Given the description of an element on the screen output the (x, y) to click on. 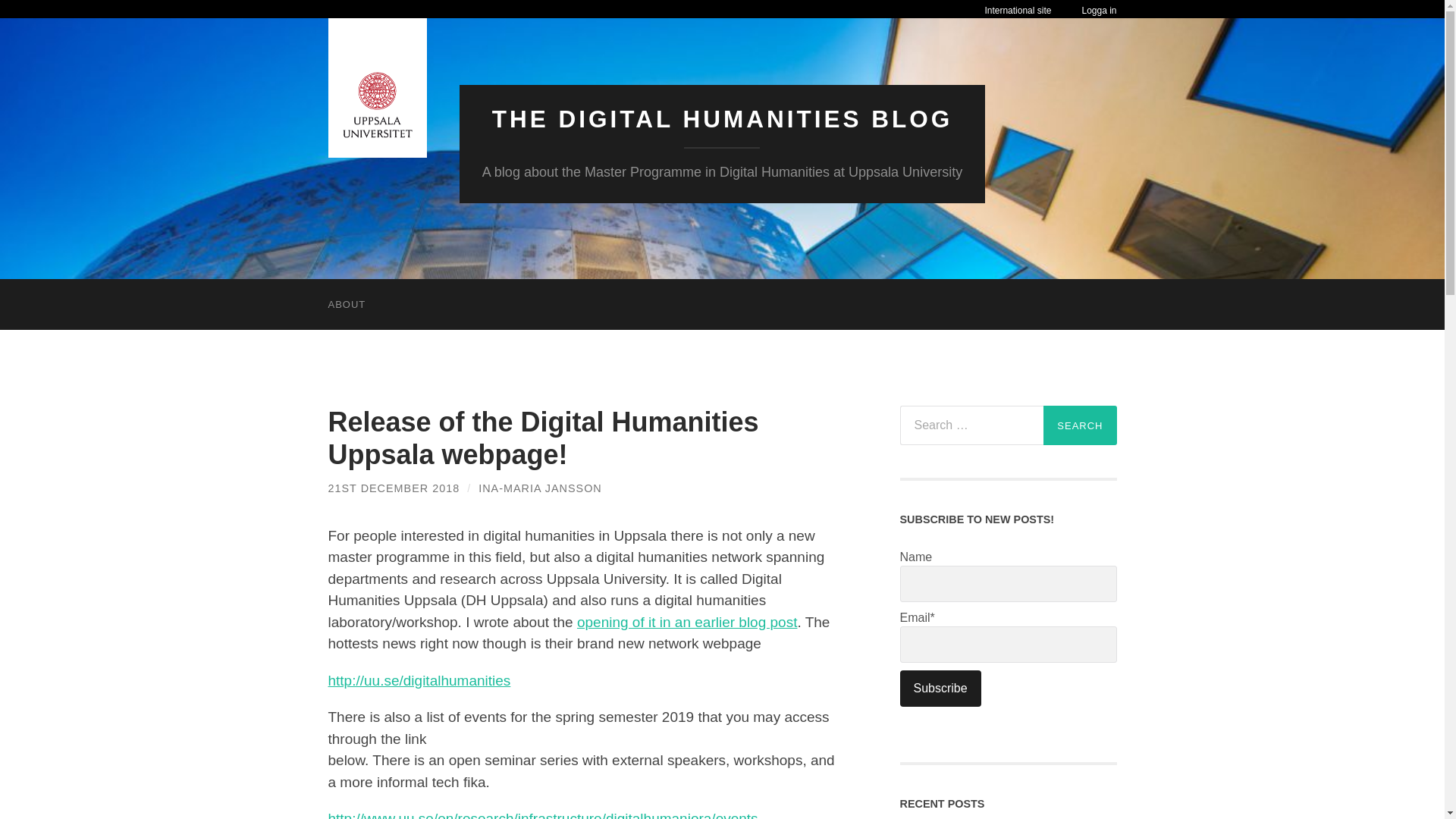
Logga in (1098, 11)
Posts by Ina-Maria Jansson (540, 488)
Search (1079, 425)
INA-MARIA JANSSON (540, 488)
ABOUT (346, 304)
Search (1079, 425)
Subscribe (939, 688)
21ST DECEMBER 2018 (393, 488)
Search (1079, 425)
Subscribe (939, 688)
International site (1017, 9)
opening of it in an earlier blog post (686, 621)
THE DIGITAL HUMANITIES BLOG (722, 118)
